Given the description of an element on the screen output the (x, y) to click on. 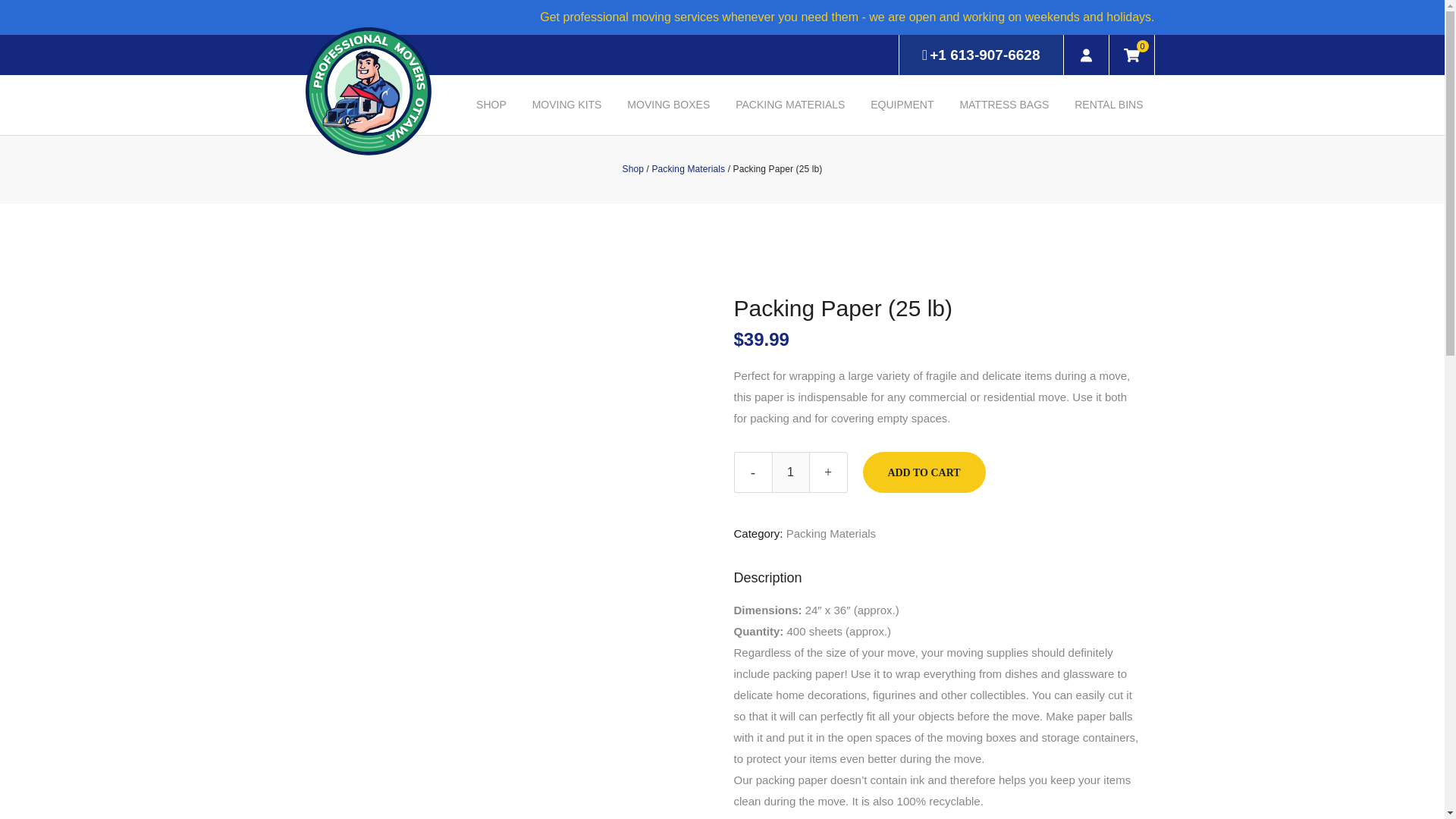
SHOP (491, 105)
RENTAL BINS (1108, 105)
1 (790, 472)
Packing Materials (831, 533)
Cart (1131, 55)
ADD TO CART (924, 472)
MOVING KITS (566, 105)
MATTRESS BAGS (1003, 105)
PACKING MATERIALS (789, 105)
Login (1085, 55)
